Given the description of an element on the screen output the (x, y) to click on. 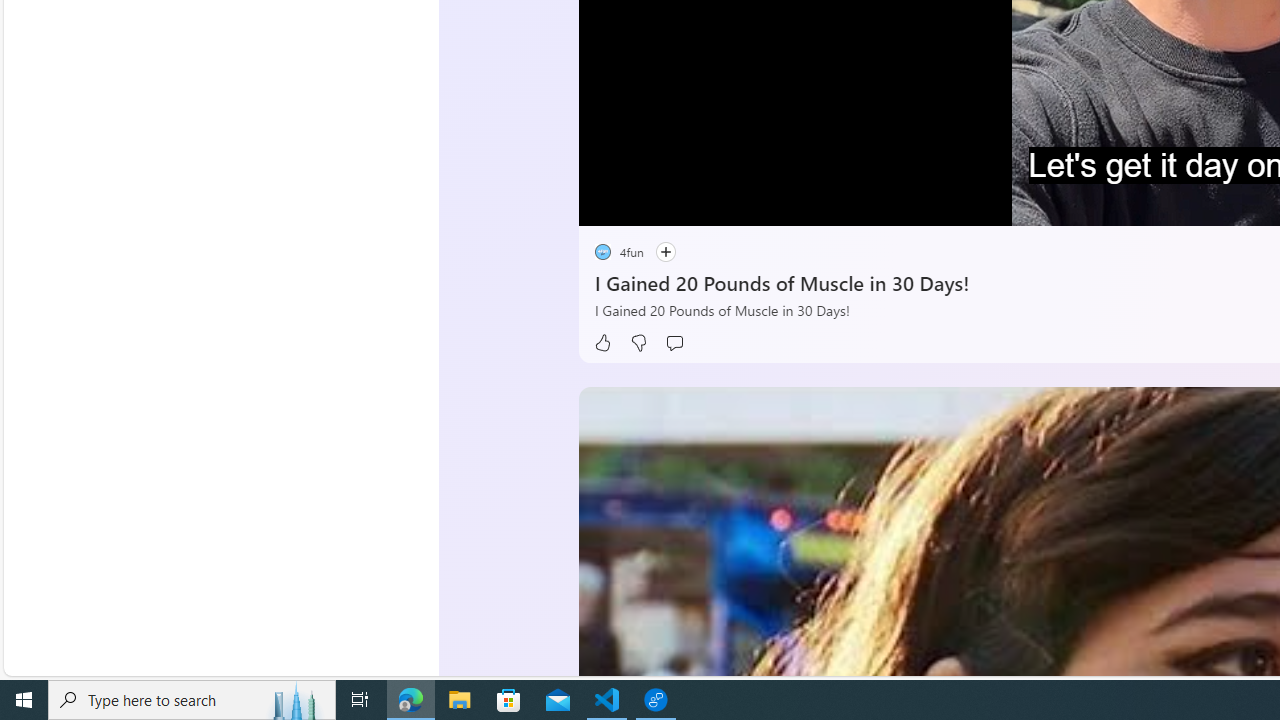
Follow (665, 251)
Seek Back (648, 203)
Pause (607, 203)
Dislike (637, 343)
Start the conversation (673, 343)
Like (601, 343)
Seek Forward (688, 203)
placeholder (601, 252)
